Given the description of an element on the screen output the (x, y) to click on. 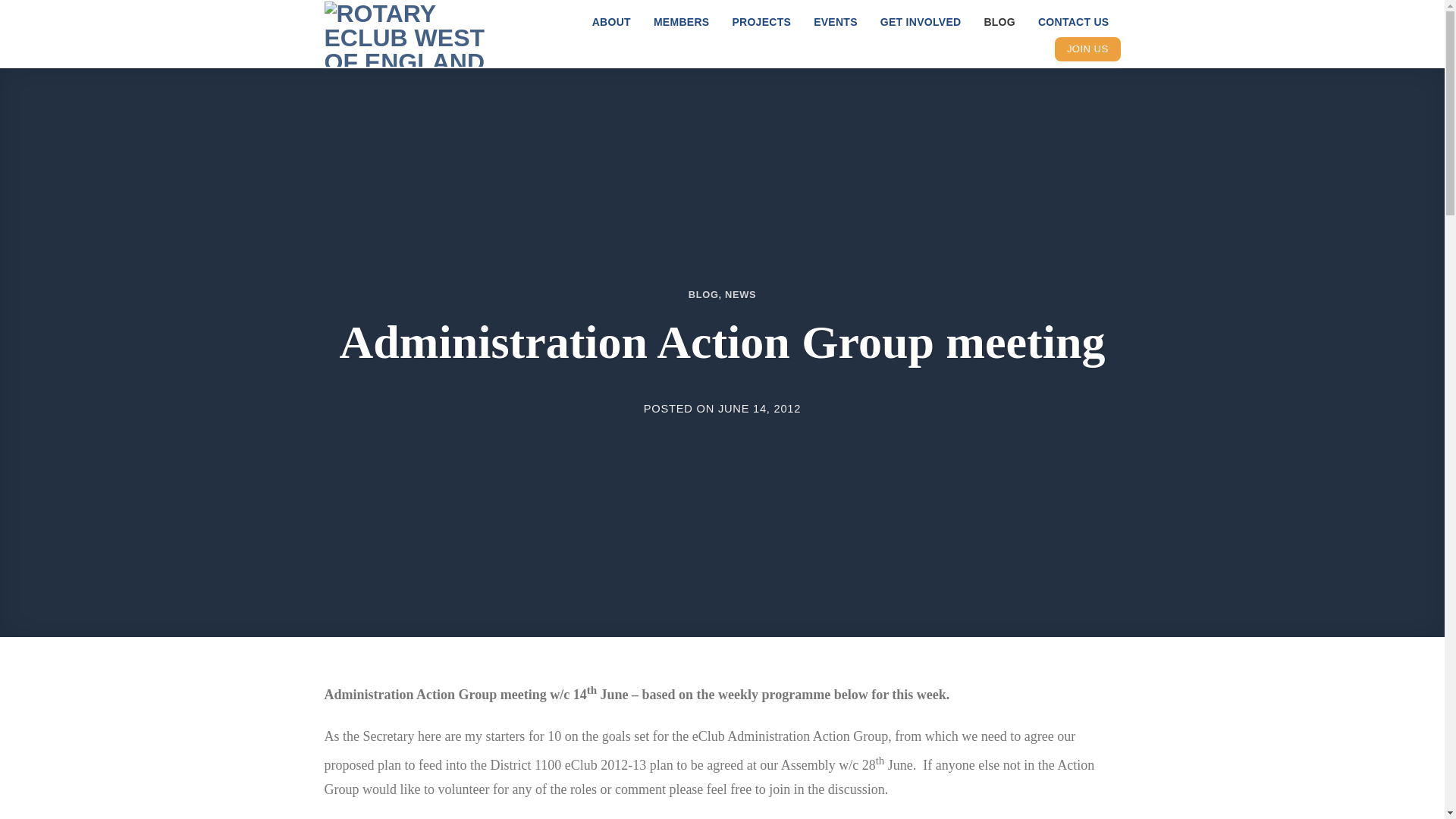
BLOG (703, 294)
JOIN US (1086, 49)
ABOUT (611, 21)
GET INVOLVED (920, 21)
MEMBERS (681, 21)
NEWS (740, 294)
Rotary eClub West of England (420, 33)
CONTACT US (1073, 21)
PROJECTS (761, 21)
BLOG (999, 21)
JUNE 14, 2012 (758, 408)
EVENTS (835, 21)
